Given the description of an element on the screen output the (x, y) to click on. 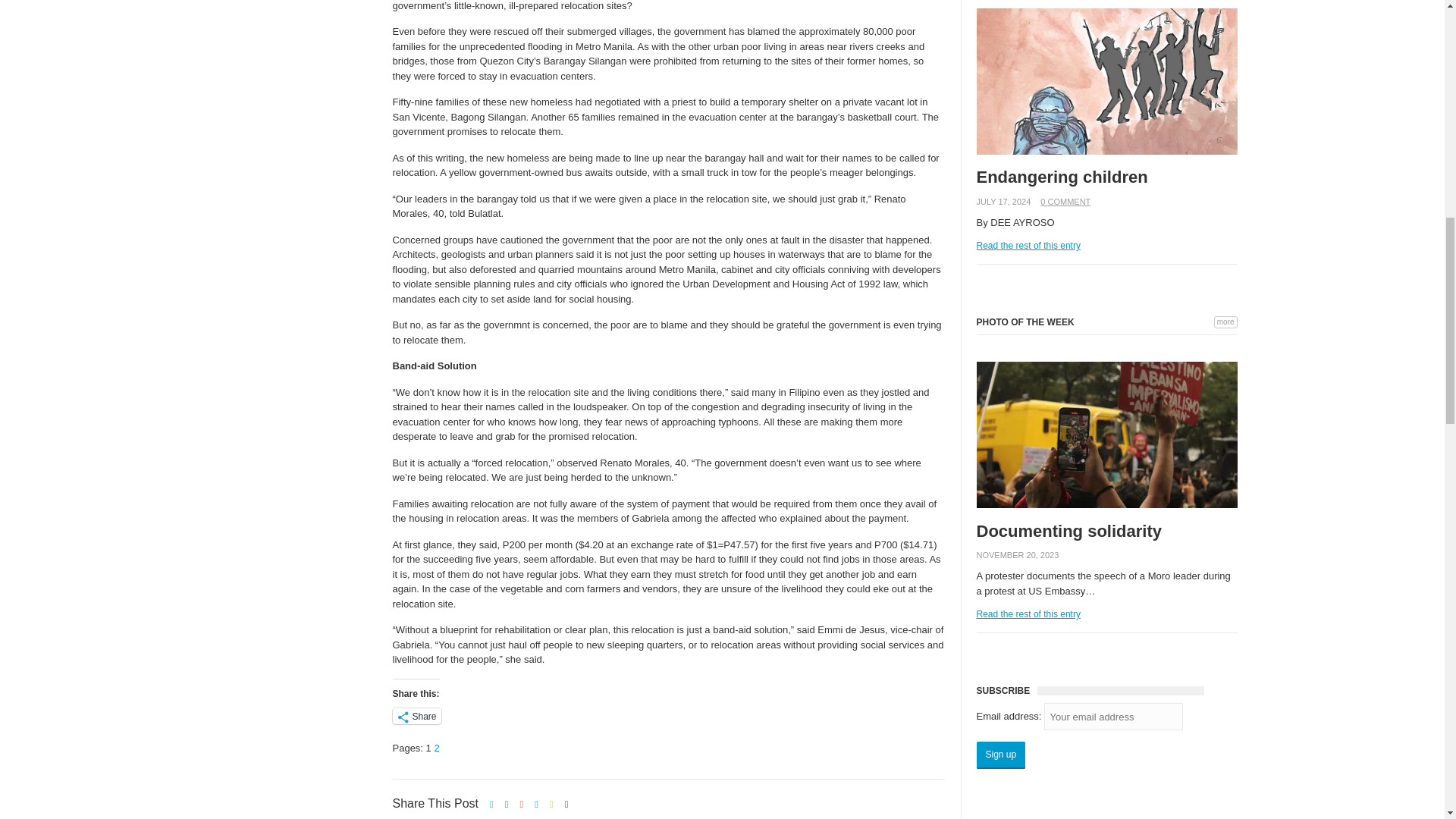
Sign up (1001, 755)
